Given the description of an element on the screen output the (x, y) to click on. 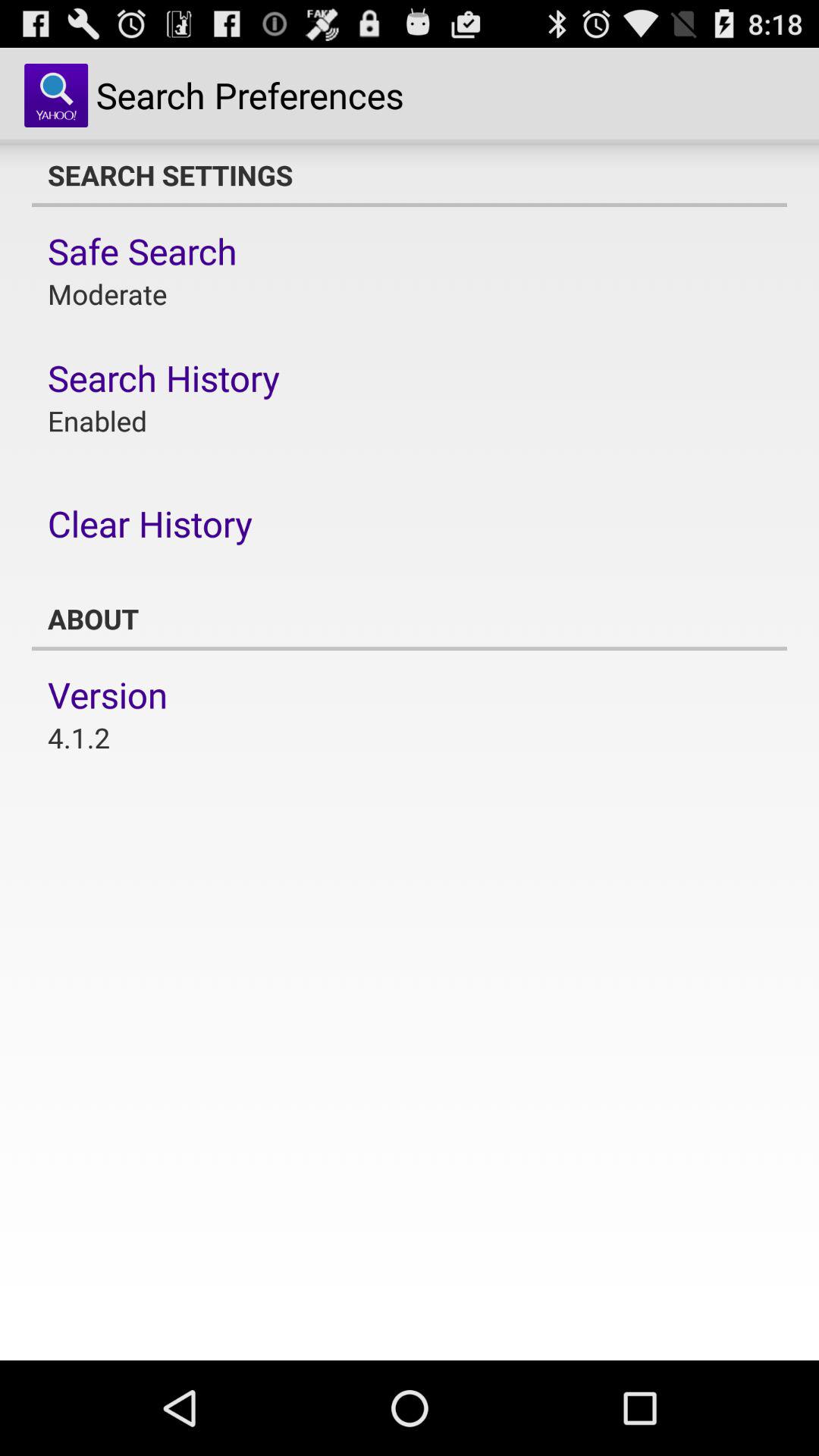
swipe until the clear history app (149, 523)
